Given the description of an element on the screen output the (x, y) to click on. 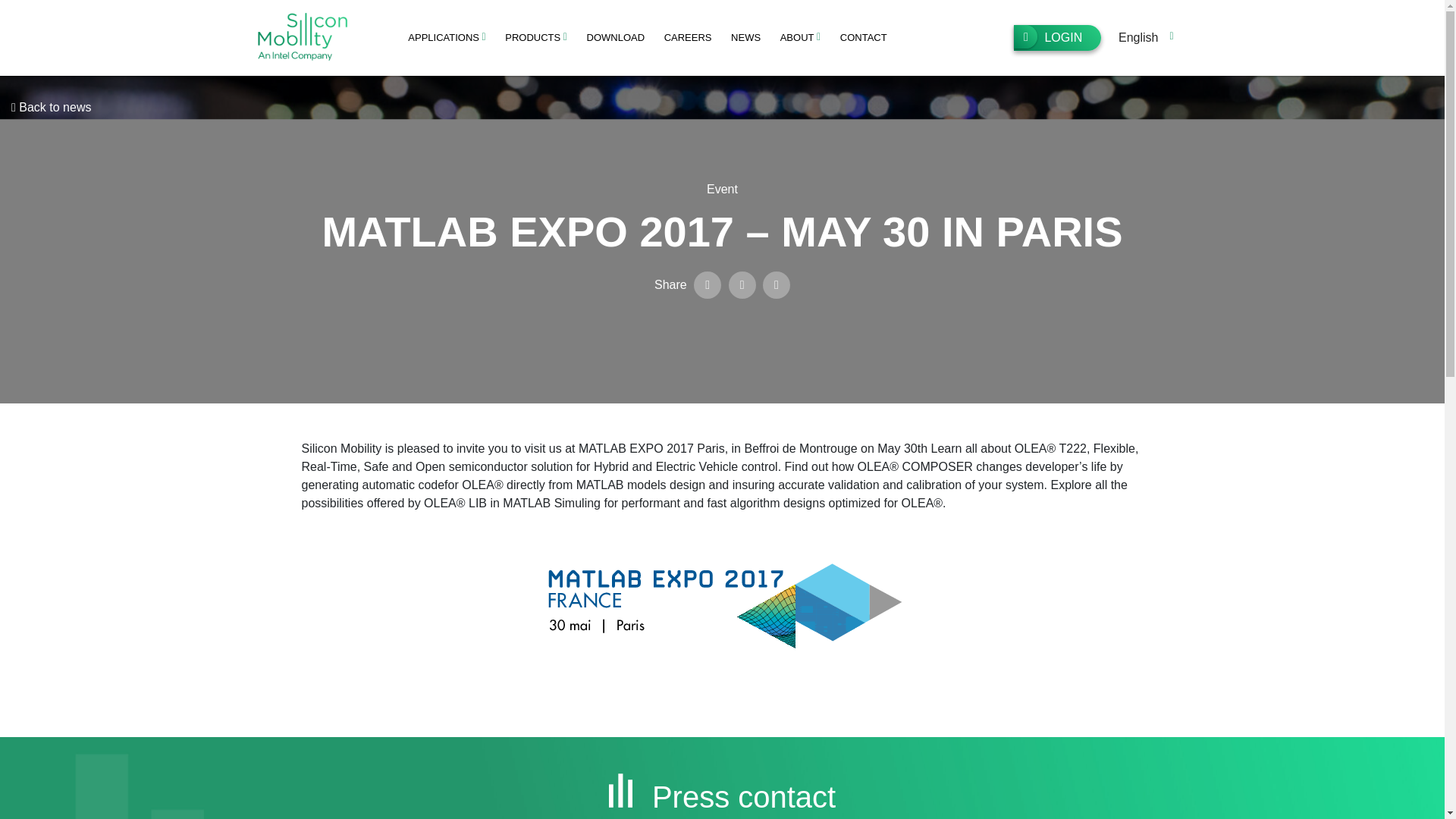
English (1144, 37)
Back to news (50, 107)
Download (614, 38)
DOWNLOAD (614, 38)
LOGIN (1056, 37)
Products (535, 38)
APPLICATIONS (447, 38)
PRODUCTS (535, 38)
Applications (447, 38)
